Given the description of an element on the screen output the (x, y) to click on. 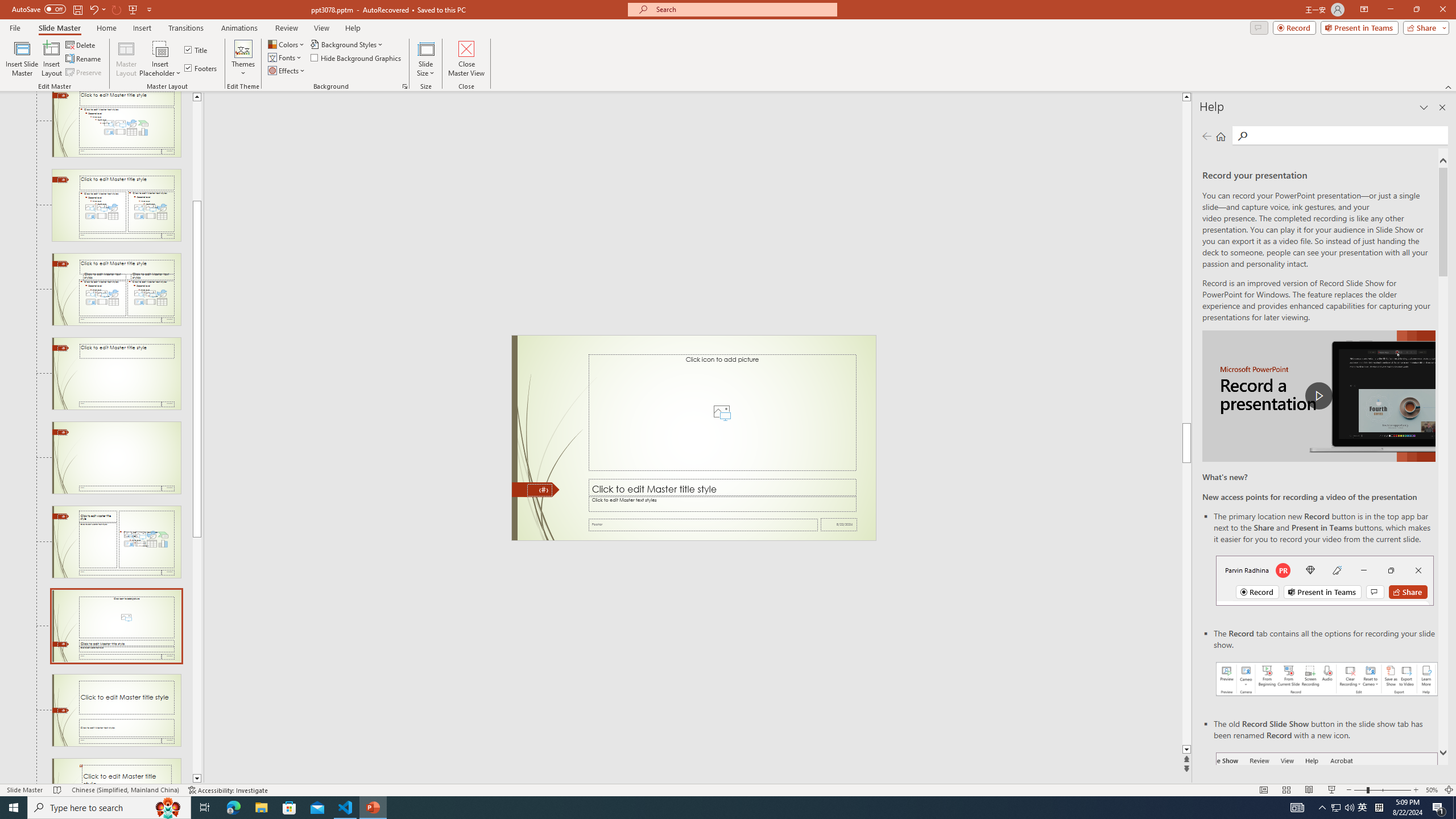
Record button in top bar (1324, 580)
Previous page (1206, 136)
Slide Number (539, 490)
